Given the description of an element on the screen output the (x, y) to click on. 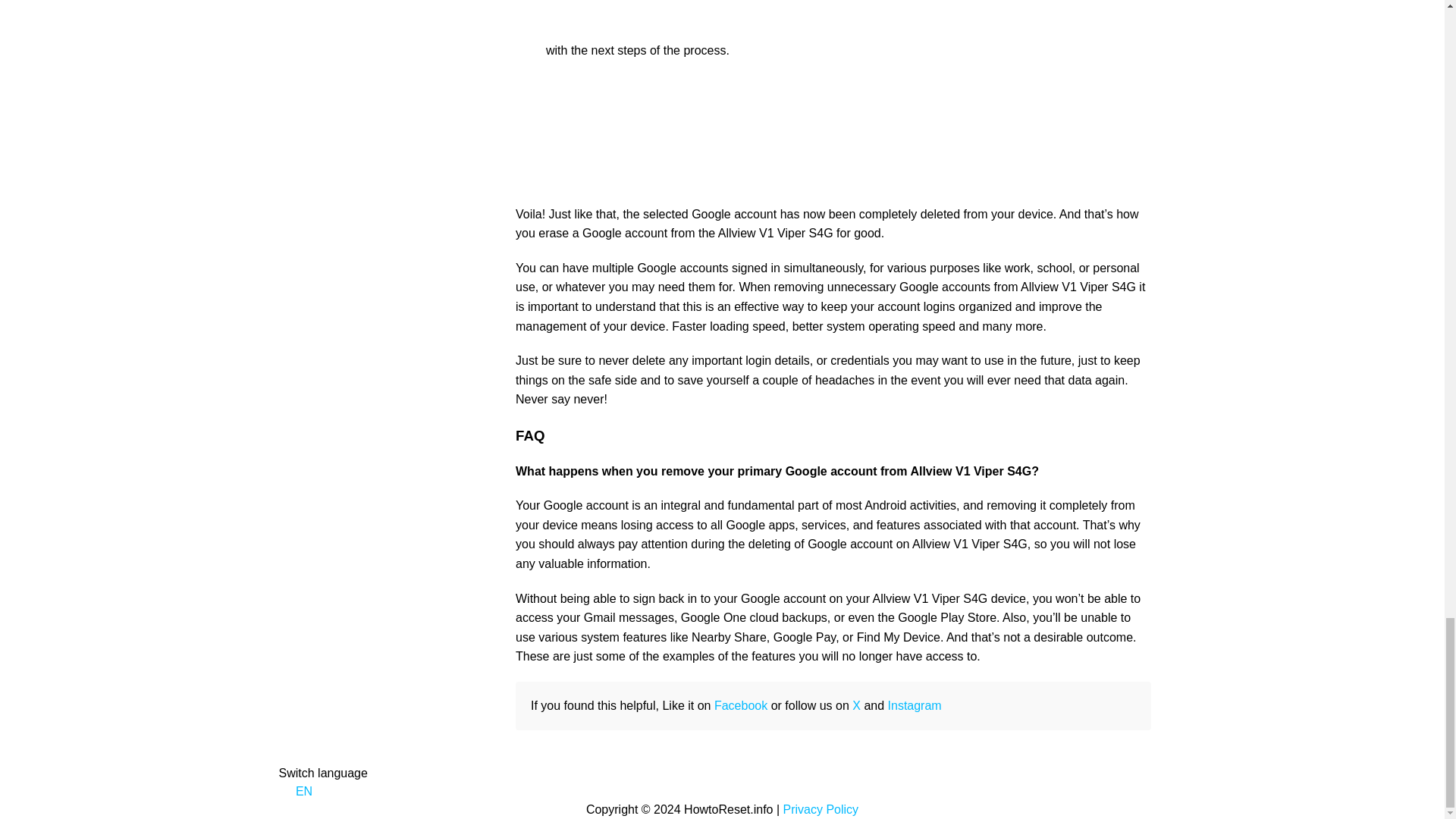
English (296, 790)
Erase Google user Allview V1 Viper S4G (802, 49)
English (285, 791)
